Given the description of an element on the screen output the (x, y) to click on. 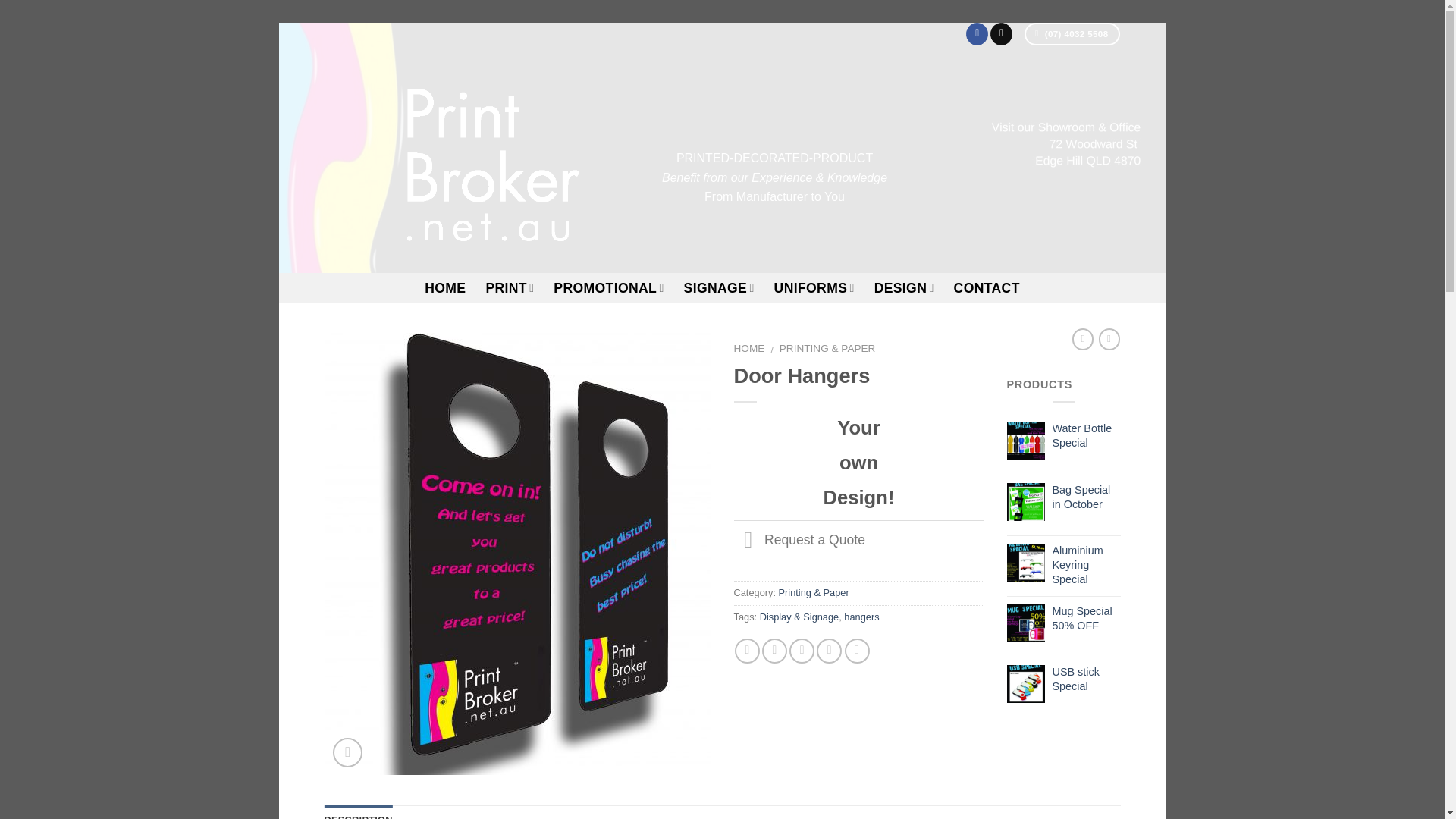
HOME (445, 288)
Share on Twitter (774, 650)
Share on Facebook (747, 650)
Zoom (347, 752)
Email to a Friend (801, 650)
PROMOTIONAL (608, 287)
Pin on Pinterest (828, 650)
Print Broker - Your Print Broker Network (475, 158)
PRINT (509, 287)
